Given the description of an element on the screen output the (x, y) to click on. 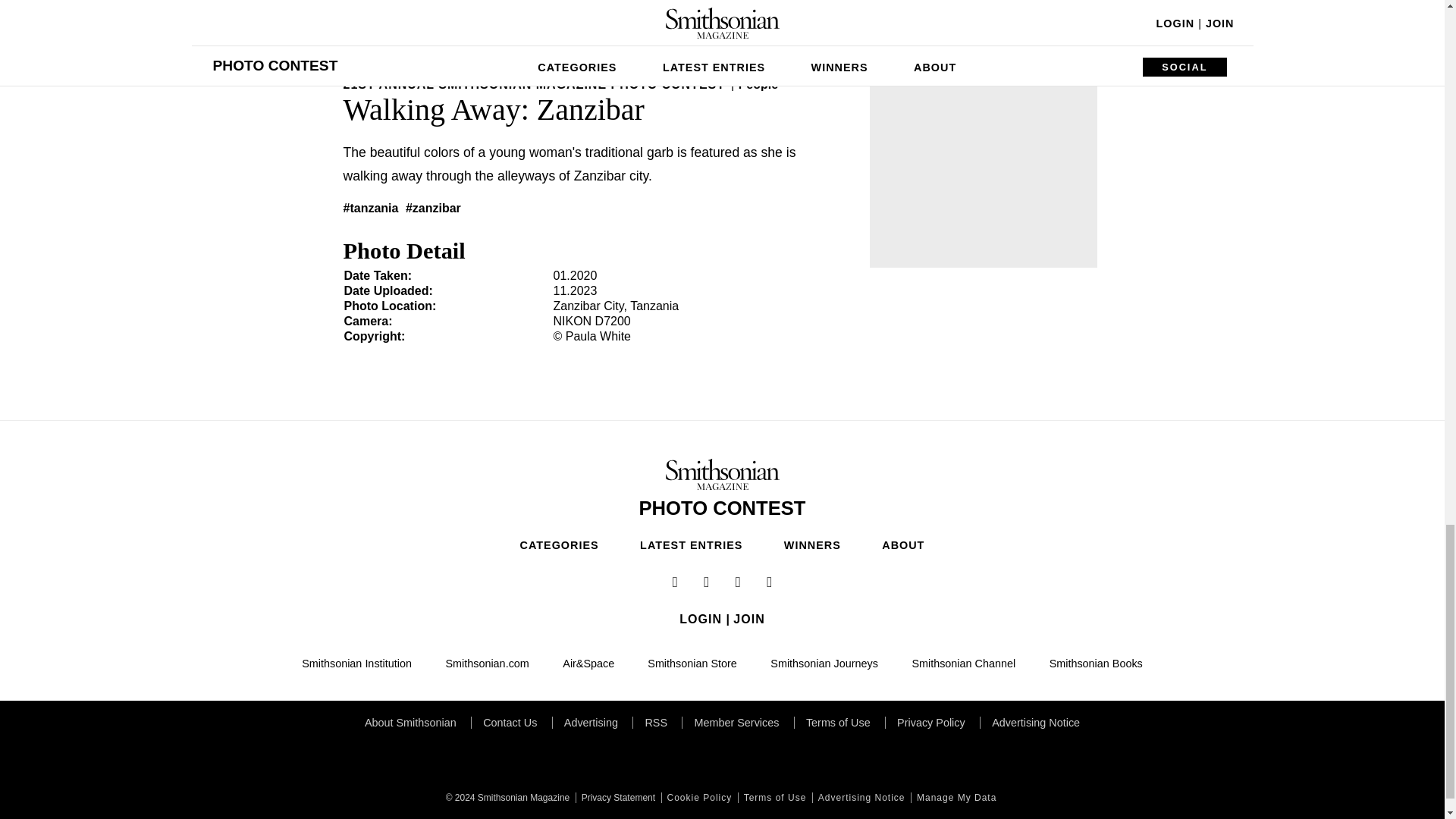
Advertising Notice (859, 797)
3rd party ad content (983, 172)
Cookie Policy (698, 797)
Manage My Data (954, 797)
Privacy Statement (616, 797)
Terms of Use (773, 797)
